Given the description of an element on the screen output the (x, y) to click on. 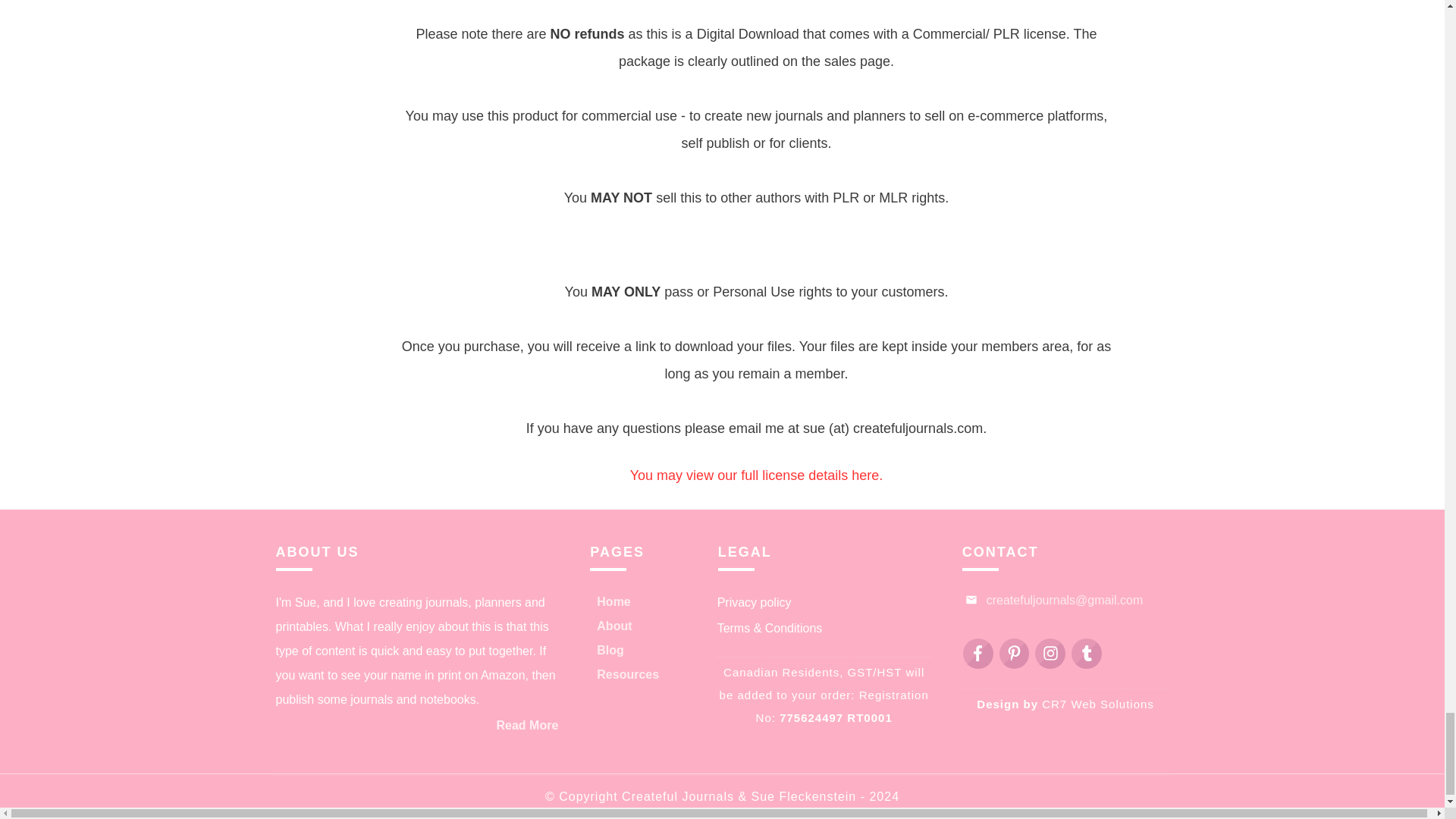
You may view our full license details here. (756, 475)
Blog (610, 650)
Resources (627, 674)
About (613, 626)
Read More (526, 725)
Home (613, 601)
